Given the description of an element on the screen output the (x, y) to click on. 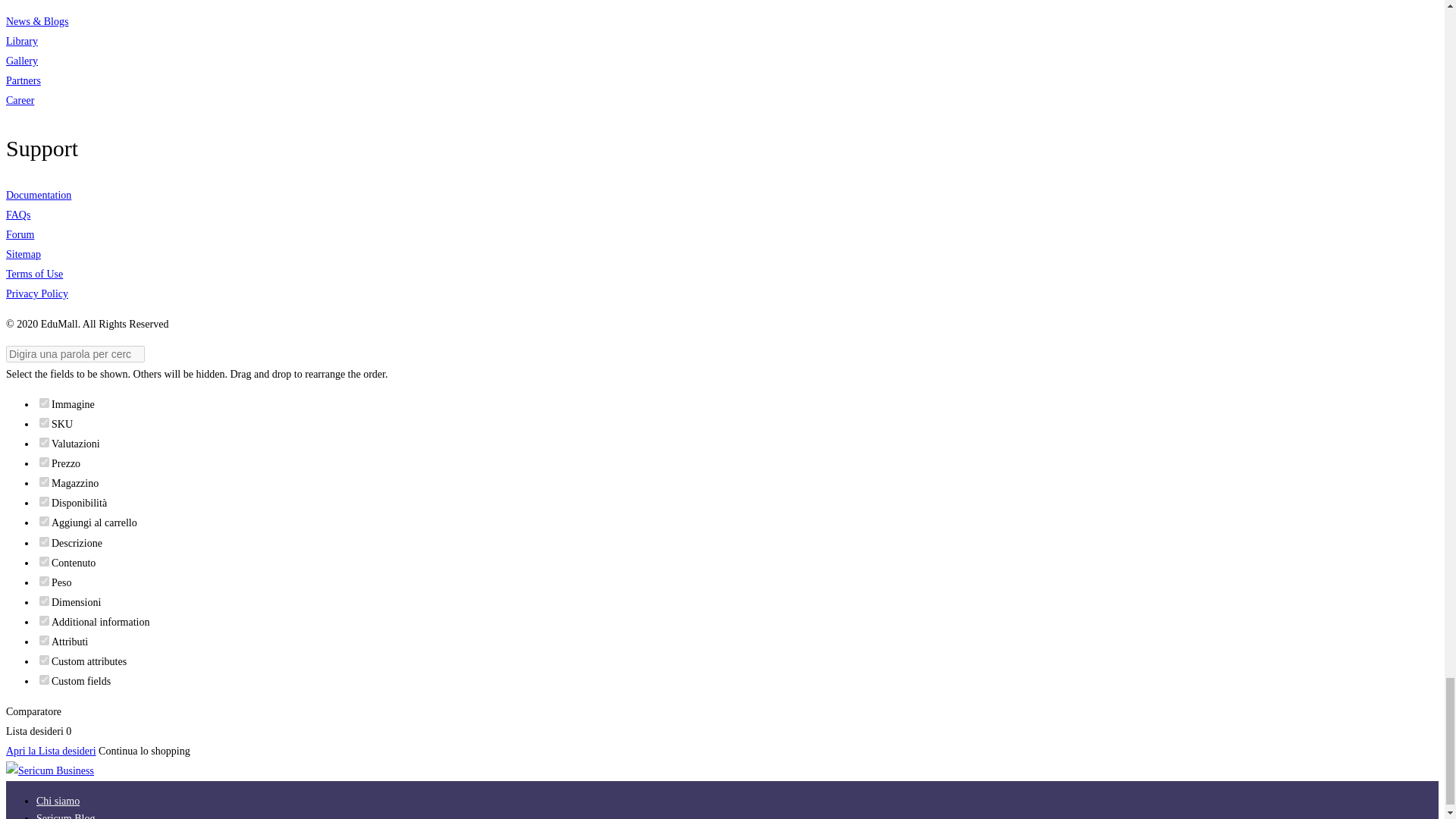
additional (44, 620)
content (44, 561)
availability (44, 501)
weight (44, 581)
dimensions (44, 601)
price (44, 461)
description (44, 542)
image (44, 402)
sku (44, 422)
rating (44, 442)
attributes (44, 640)
stock (44, 481)
